Given the description of an element on the screen output the (x, y) to click on. 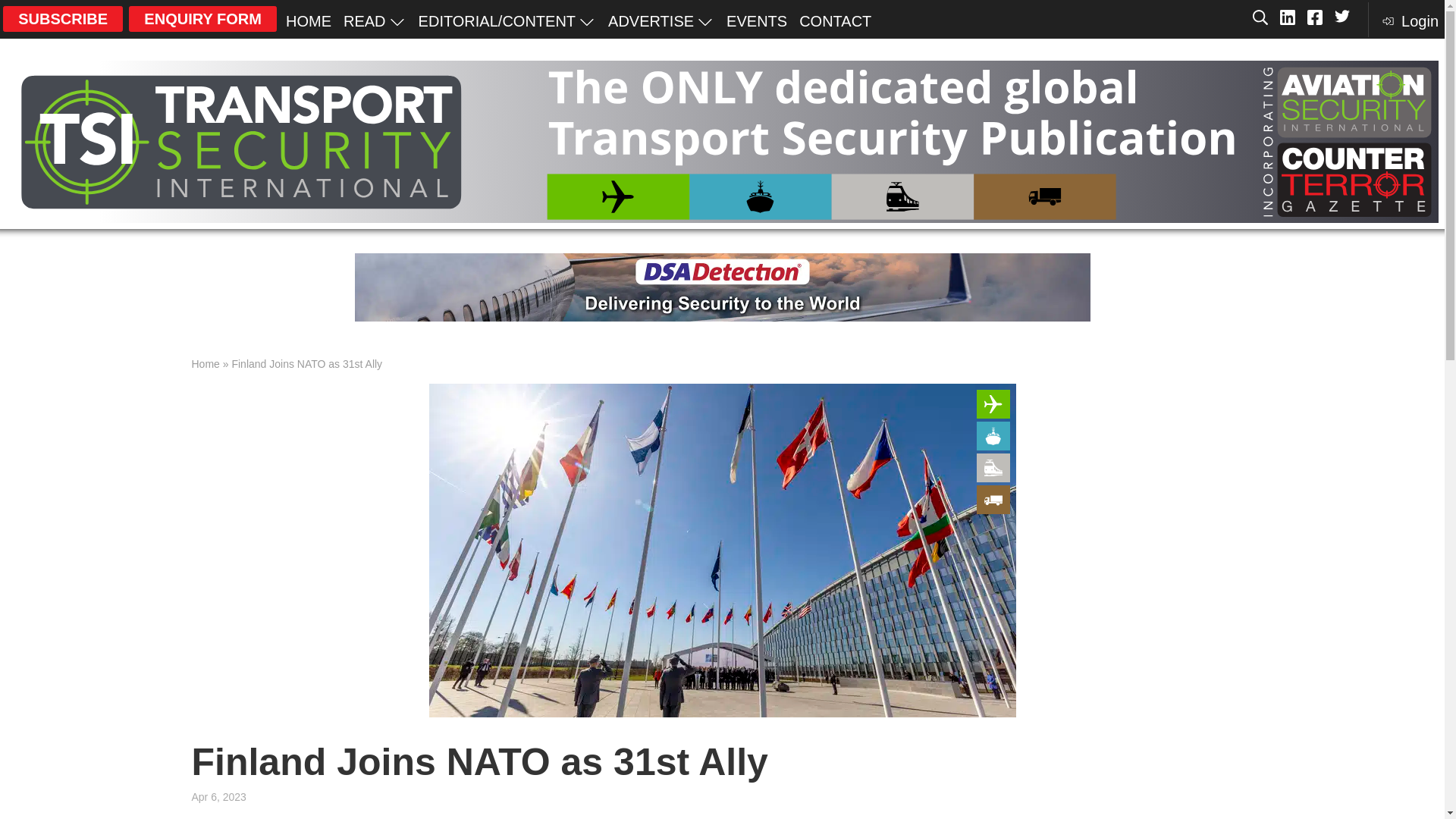
SUBSCRIBE (62, 18)
Login (1409, 20)
Home (204, 363)
CONTACT (835, 20)
ADVERTISE (661, 20)
Transport Security International Magazine Facebook Page (1314, 18)
ENQUIRY FORM (202, 18)
HOME (308, 20)
EVENTS (756, 20)
READ (374, 20)
